Given the description of an element on the screen output the (x, y) to click on. 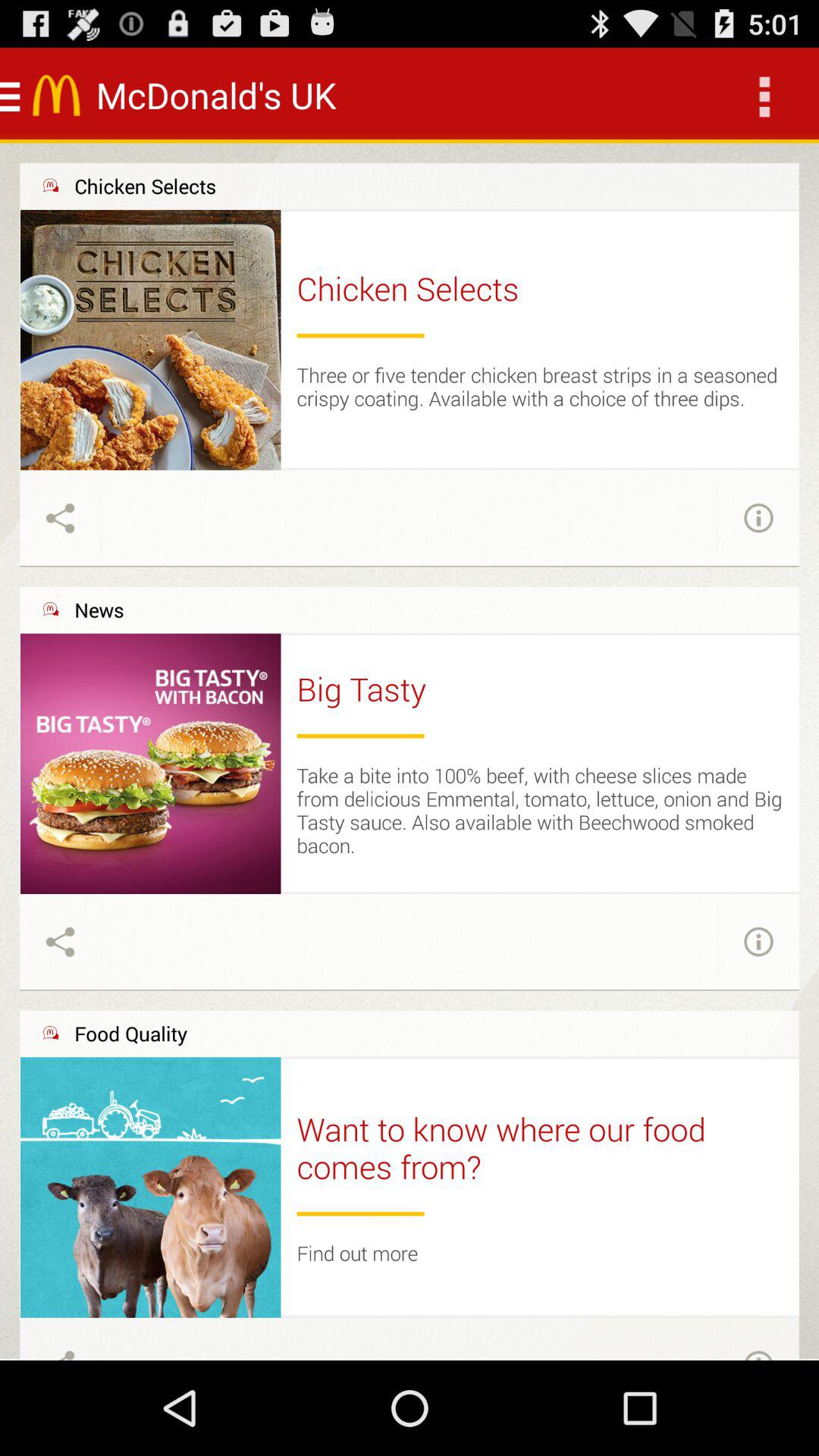
choose the item above news item (409, 566)
